Given the description of an element on the screen output the (x, y) to click on. 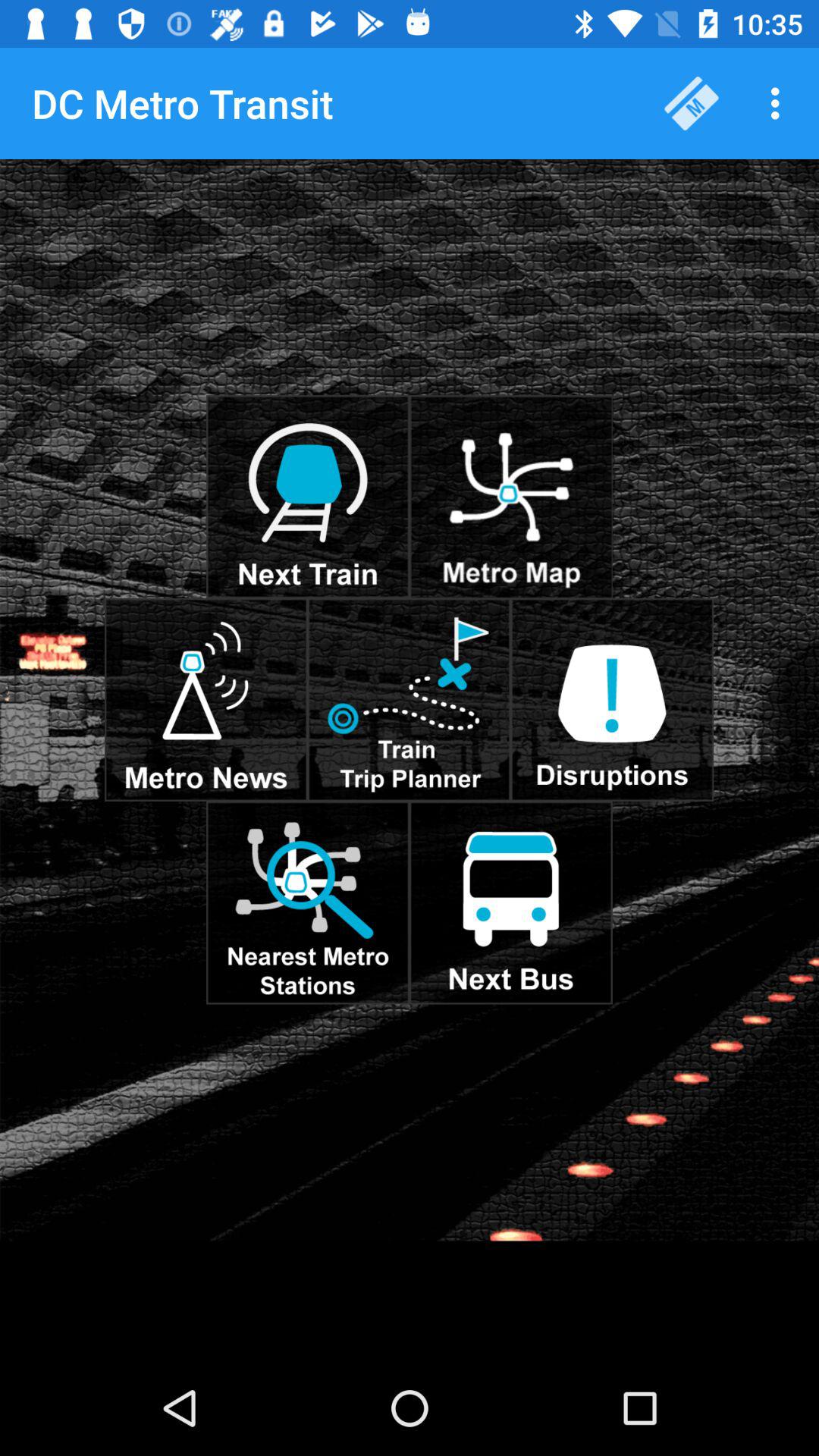
click train trip planner (408, 699)
